Given the description of an element on the screen output the (x, y) to click on. 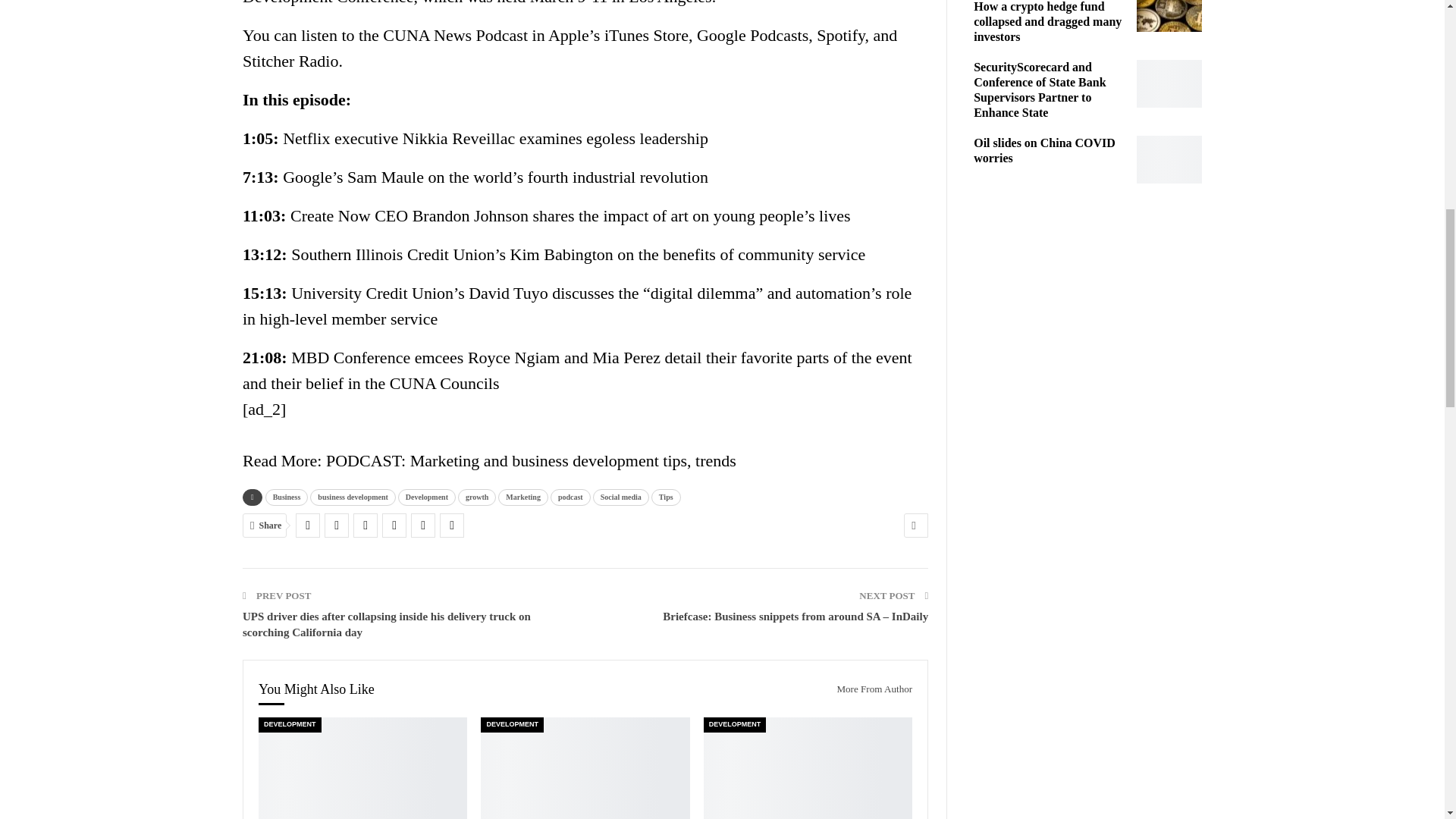
Google Podcasts (752, 35)
business development (353, 497)
Spotify (840, 35)
PODCAST: Marketing and business development tips, trends (531, 460)
Business (286, 497)
Stitcher Radio (290, 60)
Development (426, 497)
